Given the description of an element on the screen output the (x, y) to click on. 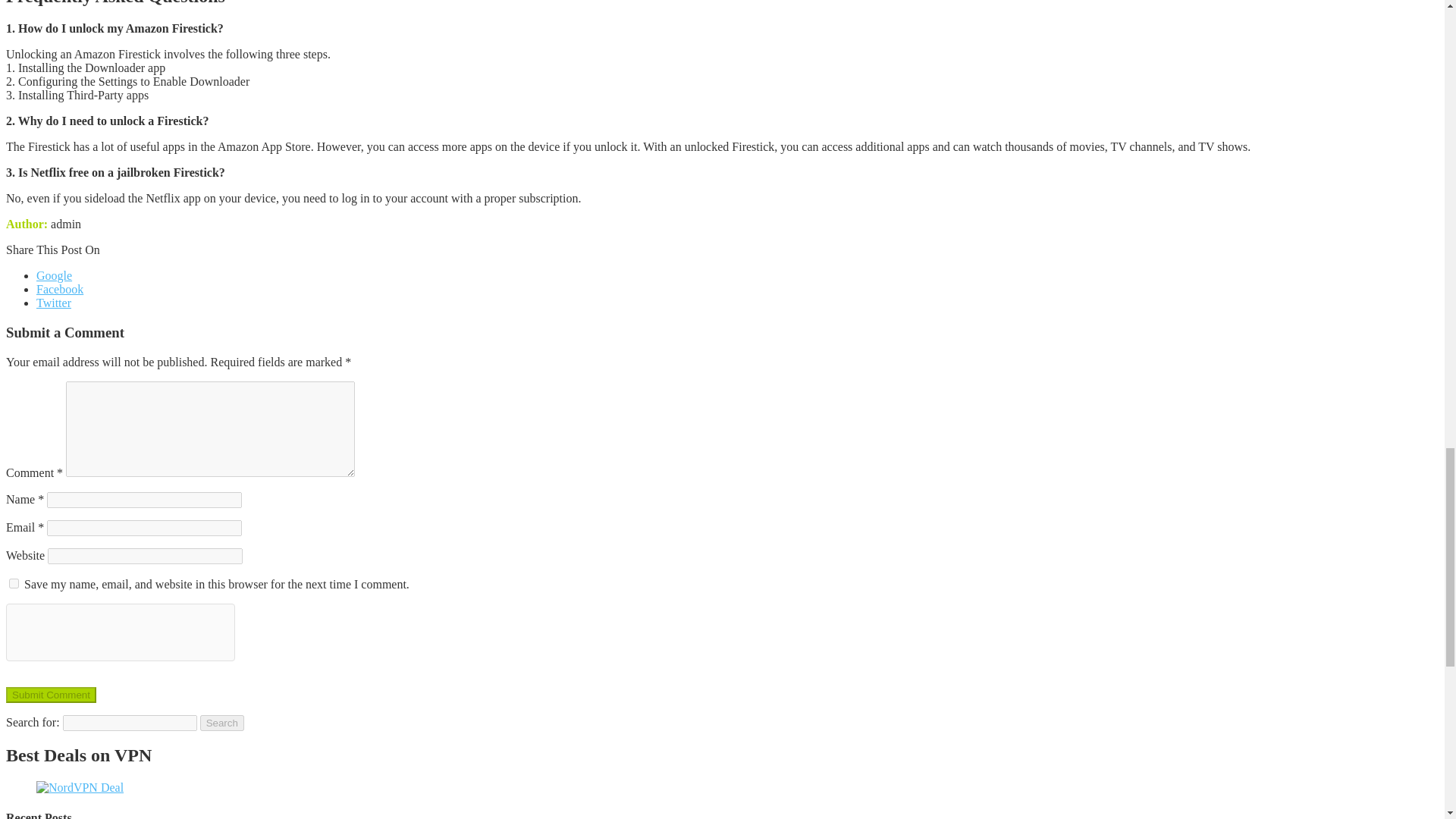
Submit Comment (50, 694)
Google (53, 275)
Search (222, 722)
Search (222, 722)
Twitter (53, 302)
Submit Comment (50, 694)
Facebook (59, 288)
yes (13, 583)
